Given the description of an element on the screen output the (x, y) to click on. 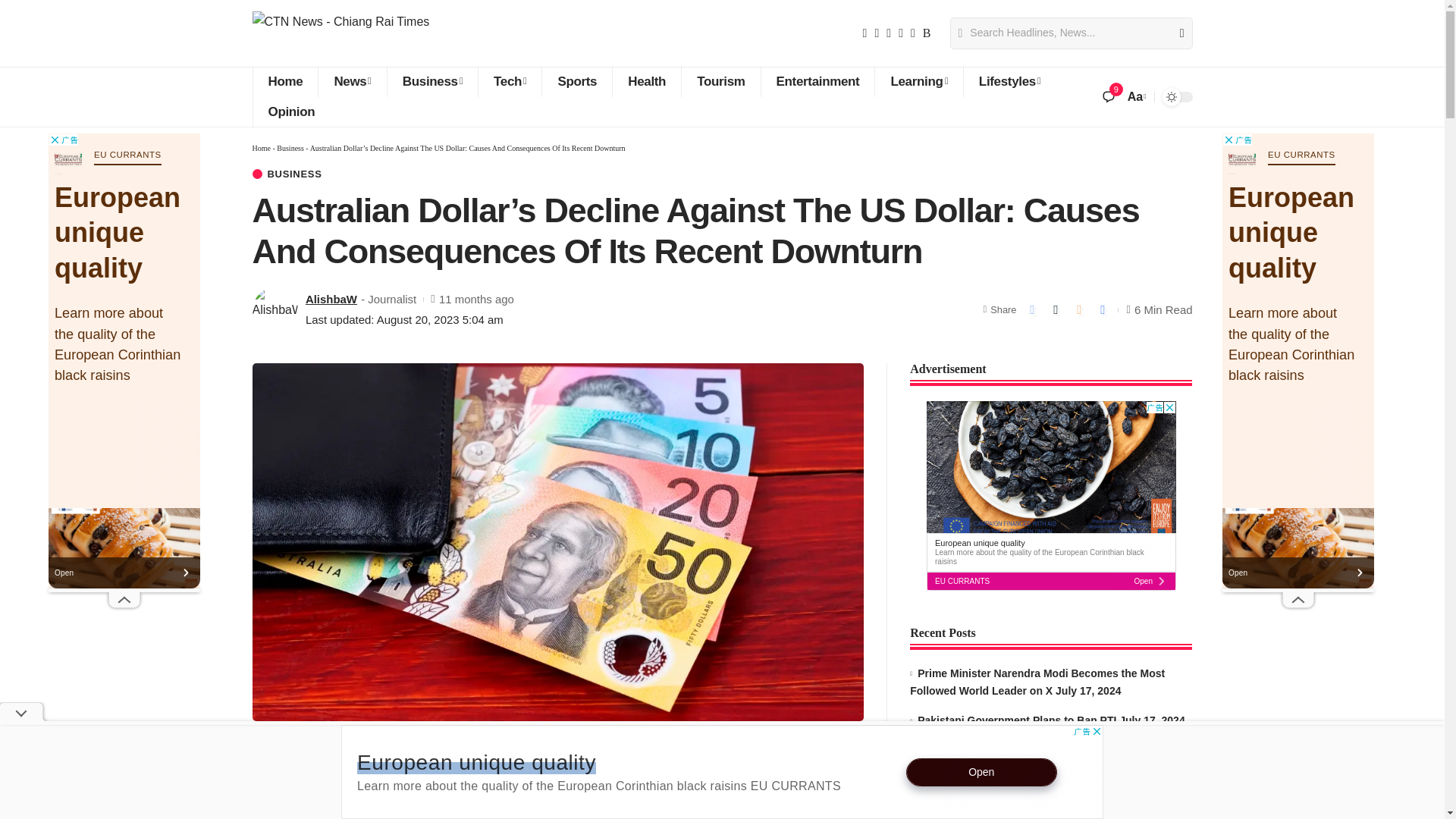
Advertisement (598, 788)
Terms of Use (727, 793)
Tourism (720, 81)
Lifestyles (1008, 81)
Health (646, 81)
Sports (576, 81)
Home (284, 81)
CTN News - Chiang Rai Times (340, 33)
Privacy Policy (642, 793)
Tech (509, 81)
Entertainment (817, 81)
News (351, 81)
Business (432, 81)
Accept (959, 793)
Learning (918, 81)
